Given the description of an element on the screen output the (x, y) to click on. 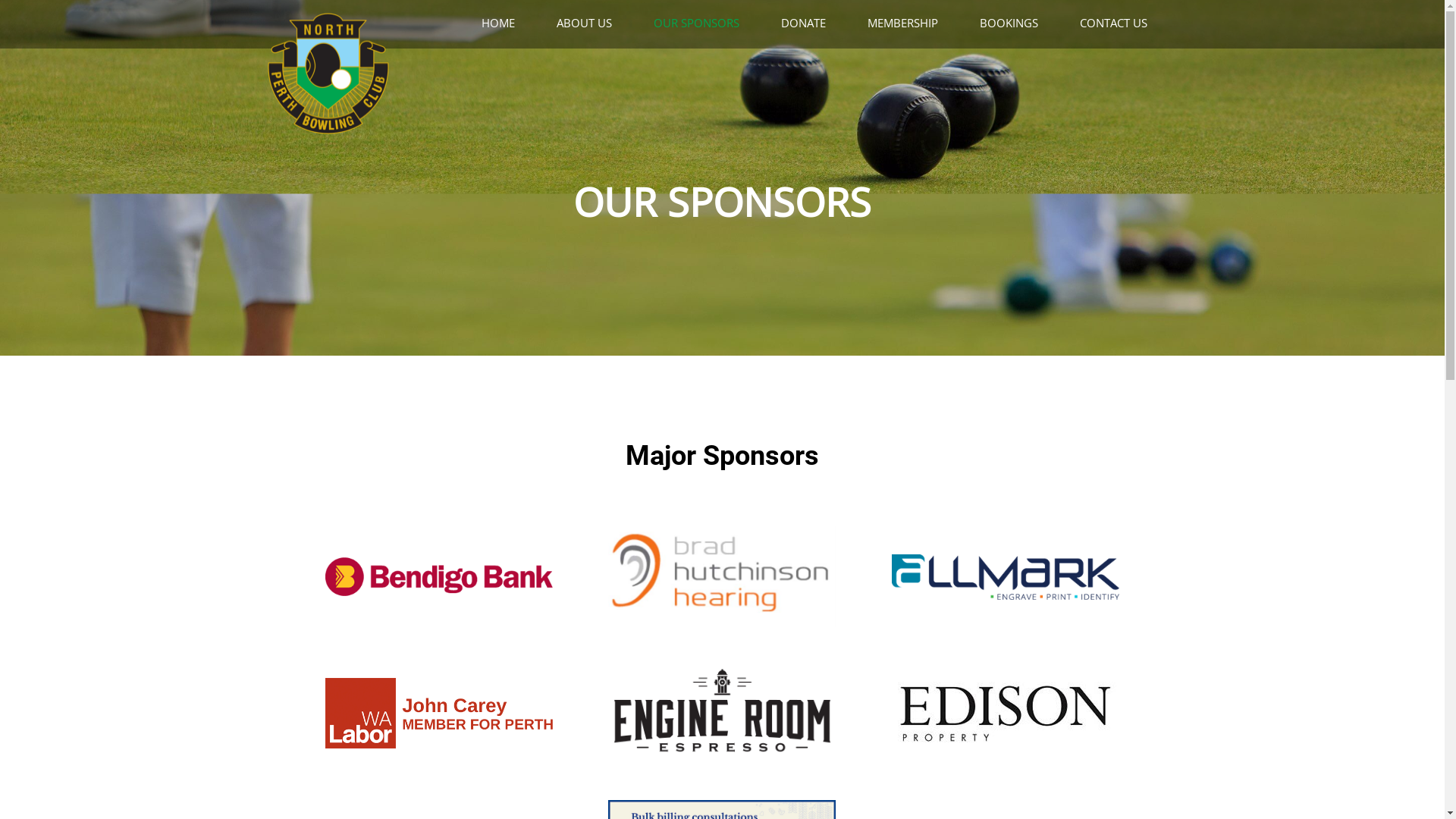
MEMBERSHIP Element type: text (911, 22)
OUR SPONSORS Element type: text (704, 22)
DONATE Element type: text (811, 22)
HOME Element type: text (507, 22)
BOOKINGS Element type: text (1017, 22)
ABOUT US Element type: text (592, 22)
CONTACT US Element type: text (1121, 22)
